Given the description of an element on the screen output the (x, y) to click on. 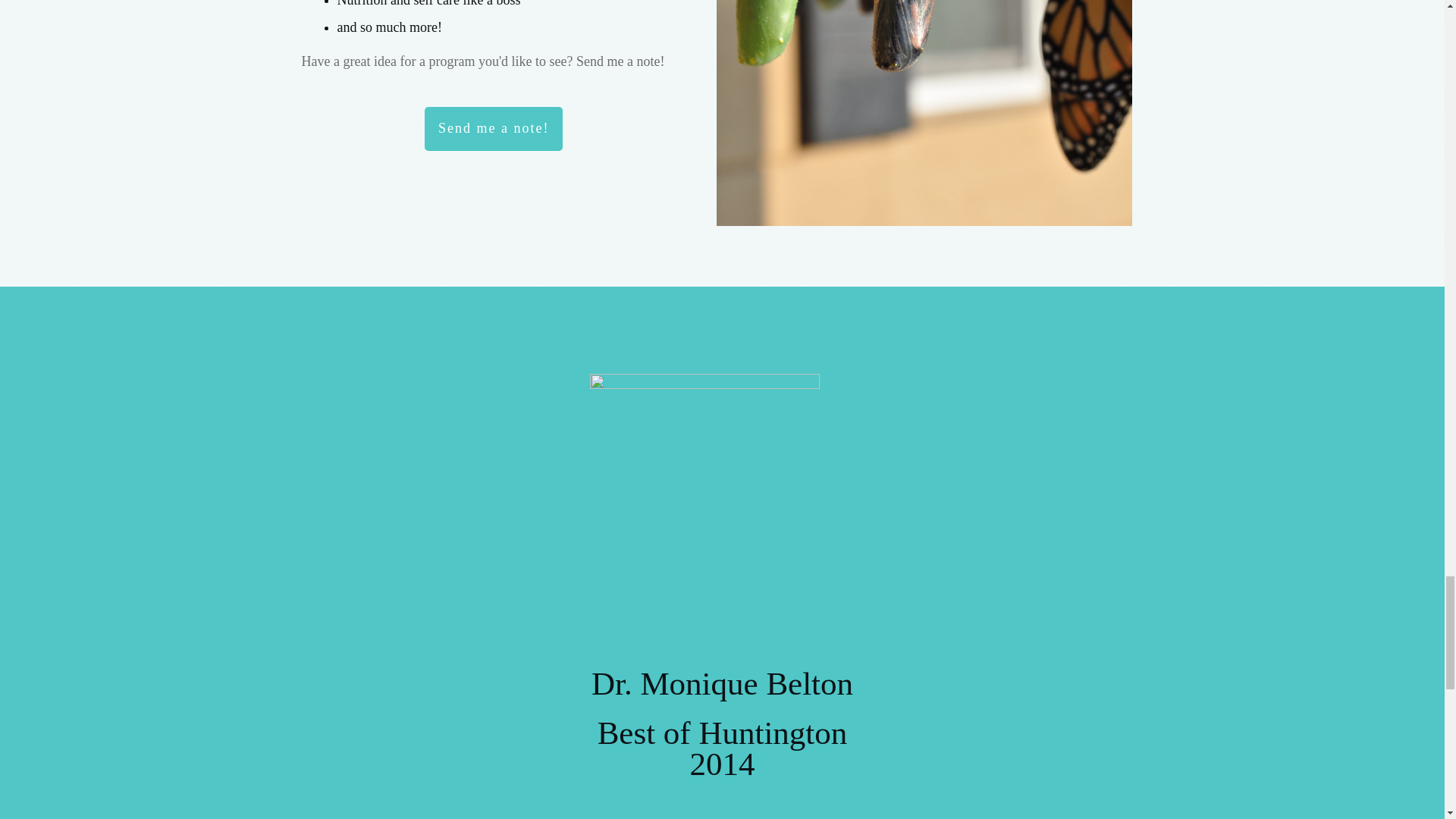
Send me a note! (493, 128)
